Given the description of an element on the screen output the (x, y) to click on. 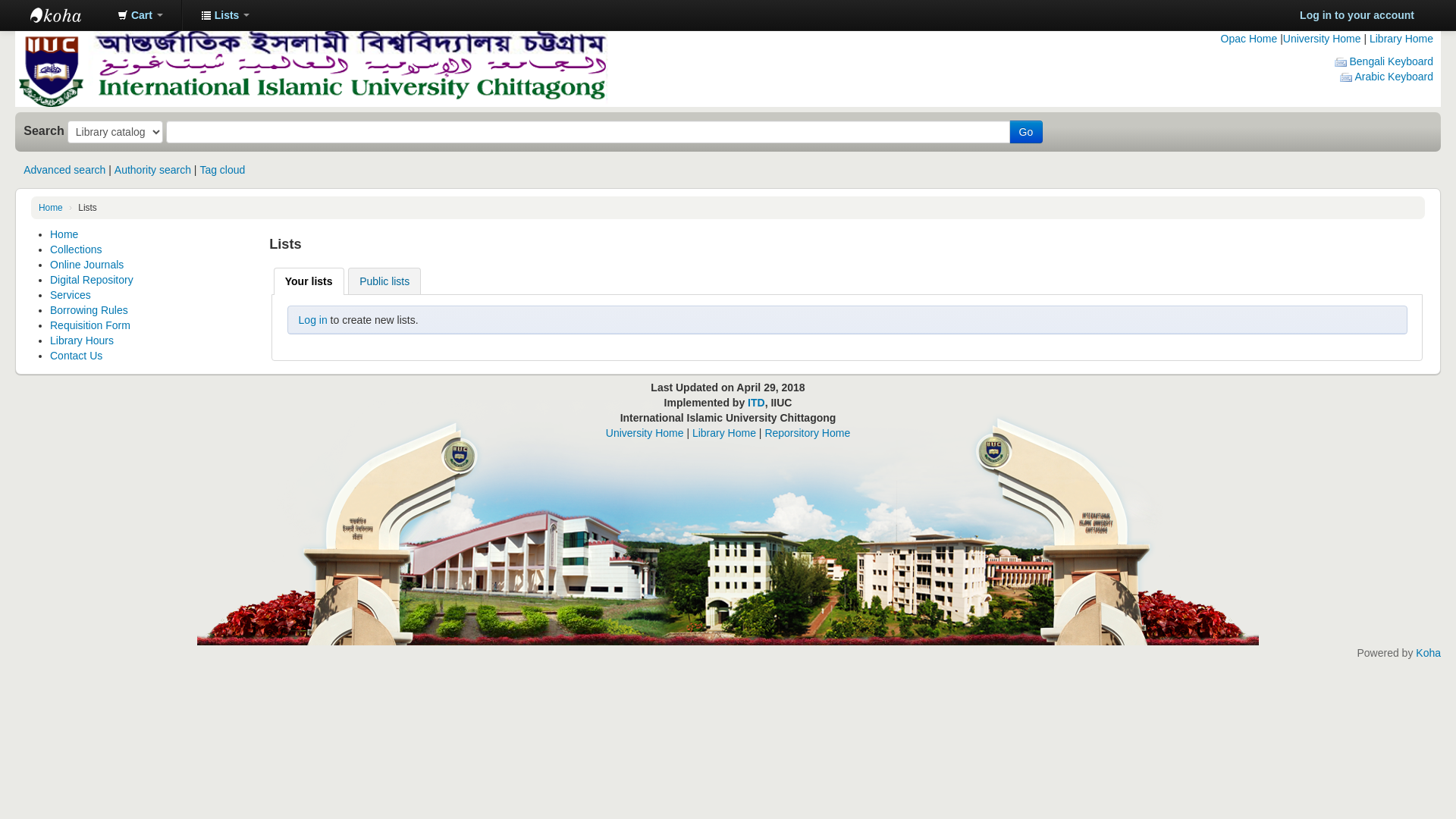
Requisition Form Element type: text (90, 325)
Services Element type: text (70, 294)
Bengali Keyboard Element type: text (1383, 61)
Home Element type: text (64, 234)
Arabic Keyboard Element type: text (1386, 76)
Public lists Element type: text (384, 281)
Authority search Element type: text (152, 169)
Type search term Element type: hover (588, 131)
Log in to your account Element type: text (1356, 15)
Online Journals Element type: text (86, 264)
Borrowing Rules Element type: text (89, 310)
Opac Home Element type: text (1248, 38)
Collections Element type: text (75, 249)
Go Element type: text (1026, 131)
Contact Us Element type: text (76, 355)
University Home Element type: text (1322, 38)
Lists Element type: text (224, 15)
Tag cloud Element type: text (221, 169)
Your lists Element type: text (308, 281)
Library Home Element type: text (724, 432)
University Home Element type: text (644, 432)
Koha Element type: text (1427, 652)
Library Home Element type: text (1401, 38)
Library Hours Element type: text (81, 340)
Advanced search Element type: text (64, 169)
Cart Element type: text (140, 15)
Digital Repository Element type: text (91, 279)
Home Element type: text (50, 207)
IIUC Central Library Element type: text (68, 15)
ITD Element type: text (756, 402)
Log in Element type: text (312, 319)
Reporsitory Home Element type: text (807, 432)
